Given the description of an element on the screen output the (x, y) to click on. 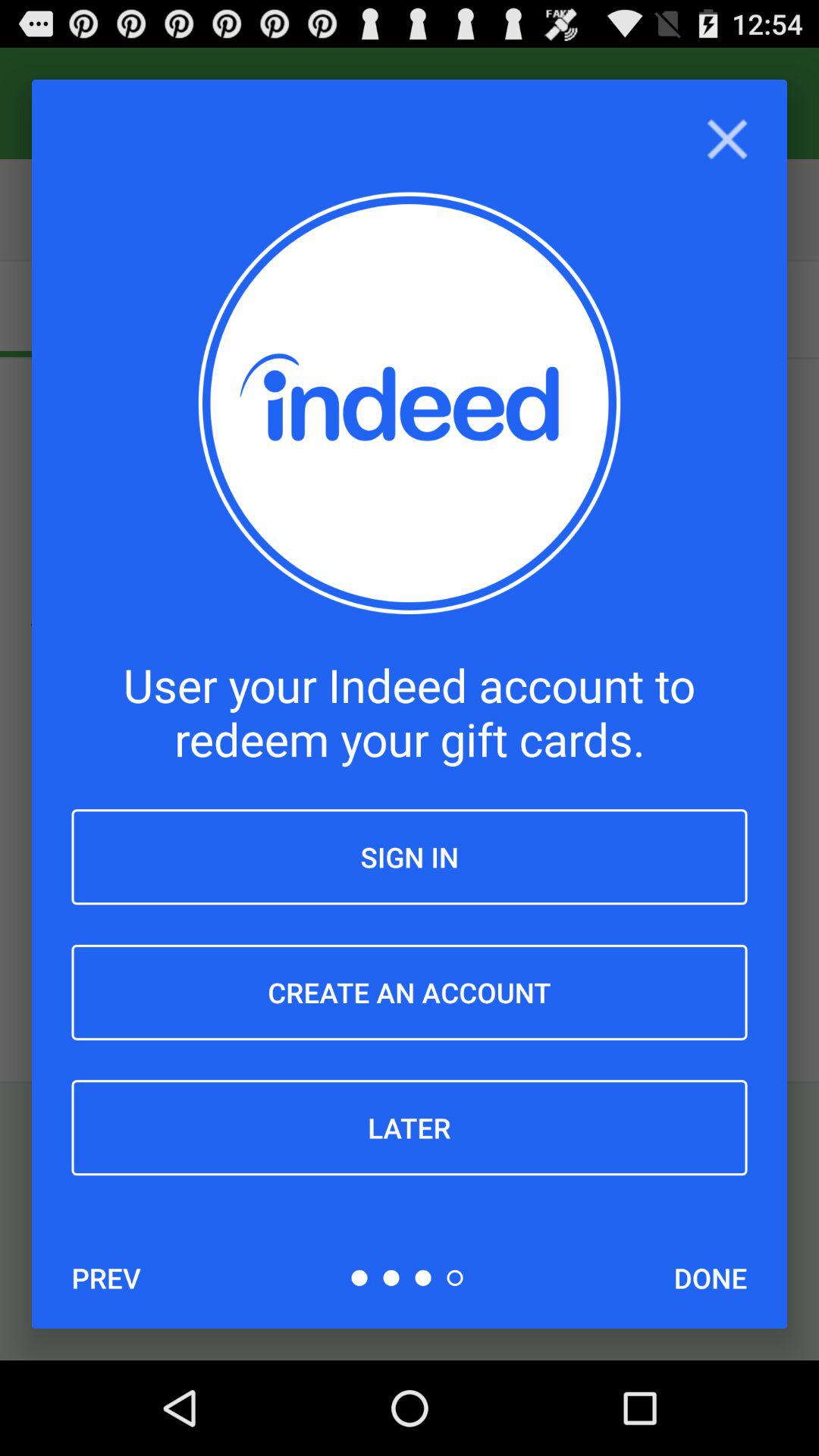
tap icon above the later icon (409, 992)
